Given the description of an element on the screen output the (x, y) to click on. 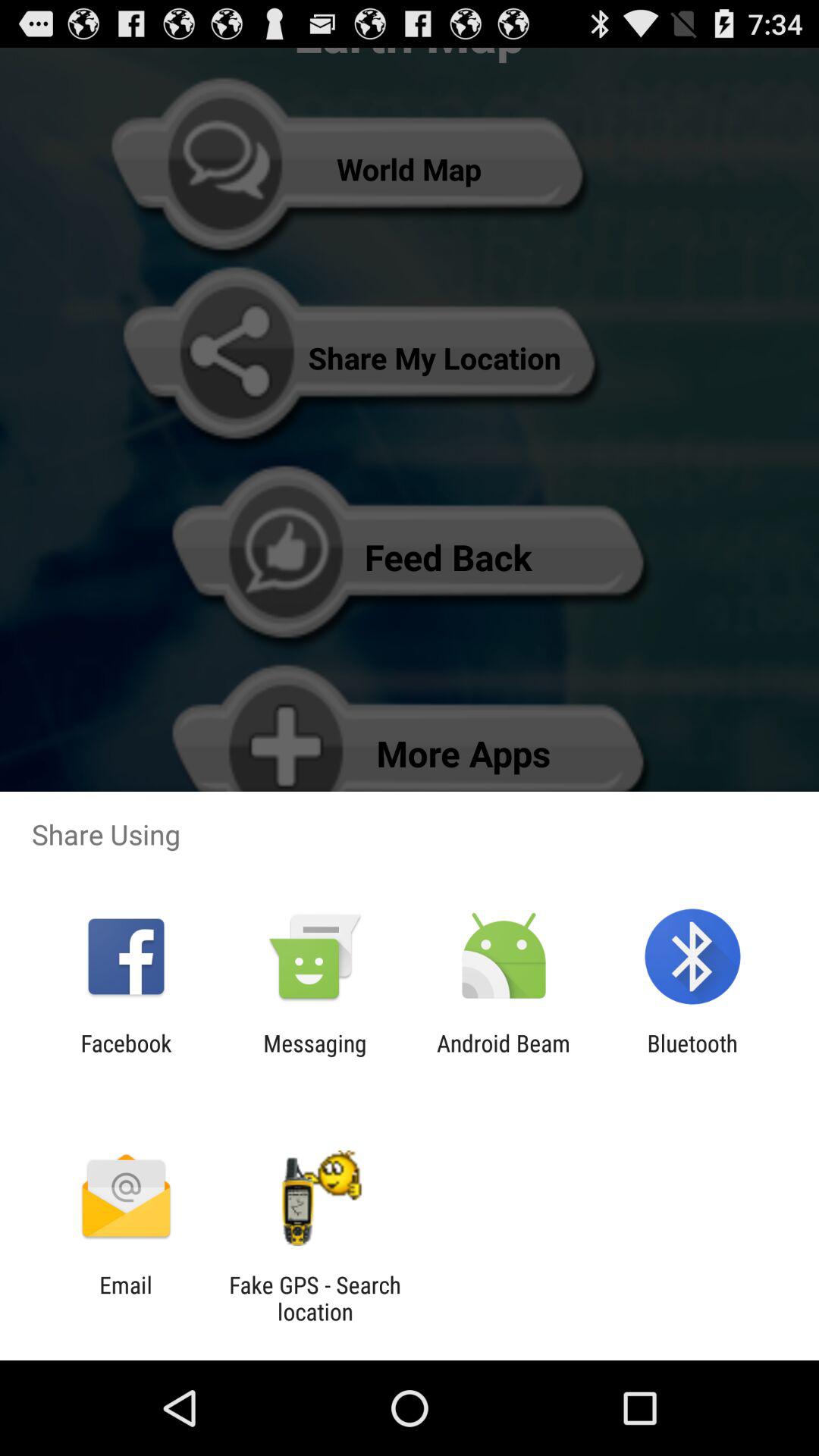
jump to the fake gps search item (314, 1298)
